Given the description of an element on the screen output the (x, y) to click on. 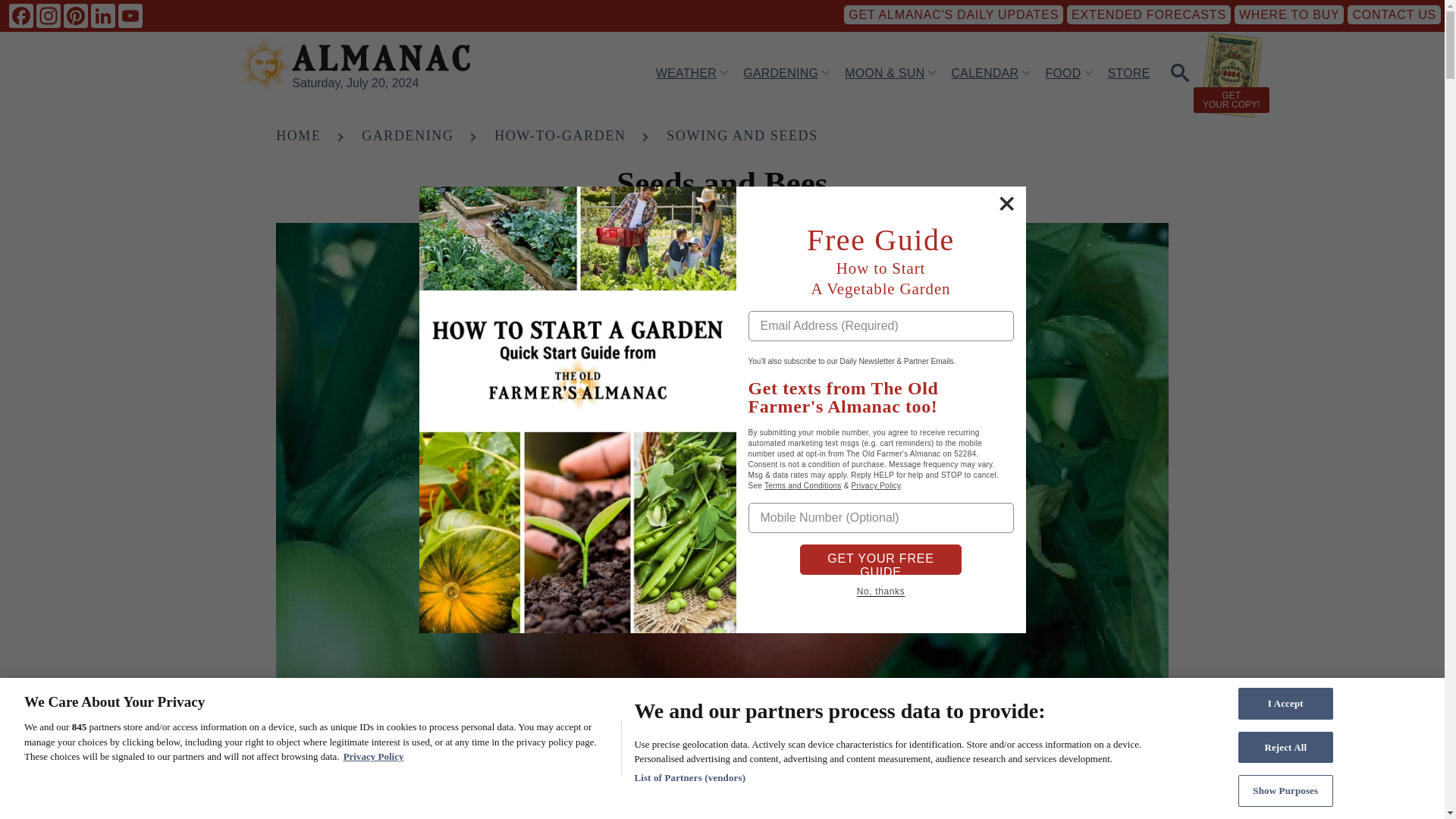
CONTACT US (1394, 14)
WHERE TO BUY (1288, 14)
Instagram (48, 15)
Facebook (20, 15)
Skip to main content (595, 6)
GET ALMANAC'S DAILY UPDATES (953, 14)
Pinterest (75, 15)
Saturday, July 20, 2024 (355, 82)
EXTENDED FORECASTS (1148, 14)
Close Closes Web Dialog (1005, 203)
GARDENING (780, 72)
Printer Friendly and PDF (1156, 813)
LinkedIn (102, 15)
YouTube (130, 15)
